Given the description of an element on the screen output the (x, y) to click on. 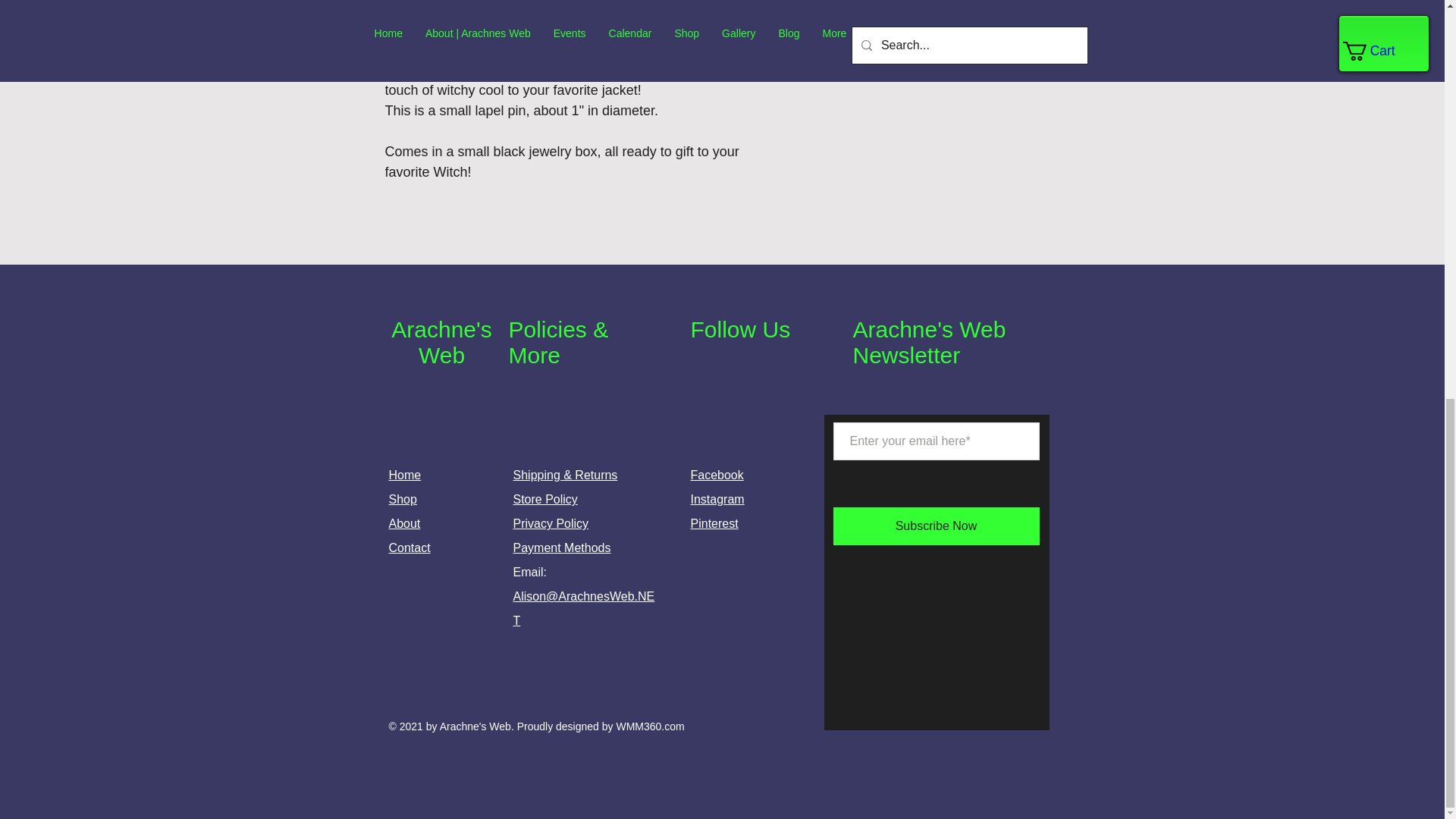
Subscribe Now (935, 525)
Facebook (716, 474)
Shop (402, 499)
Pinterest (714, 522)
Instagram (717, 499)
Home (404, 474)
Privacy Policy (550, 522)
Store Policy (544, 499)
About (404, 522)
Payment Methods (561, 547)
